Given the description of an element on the screen output the (x, y) to click on. 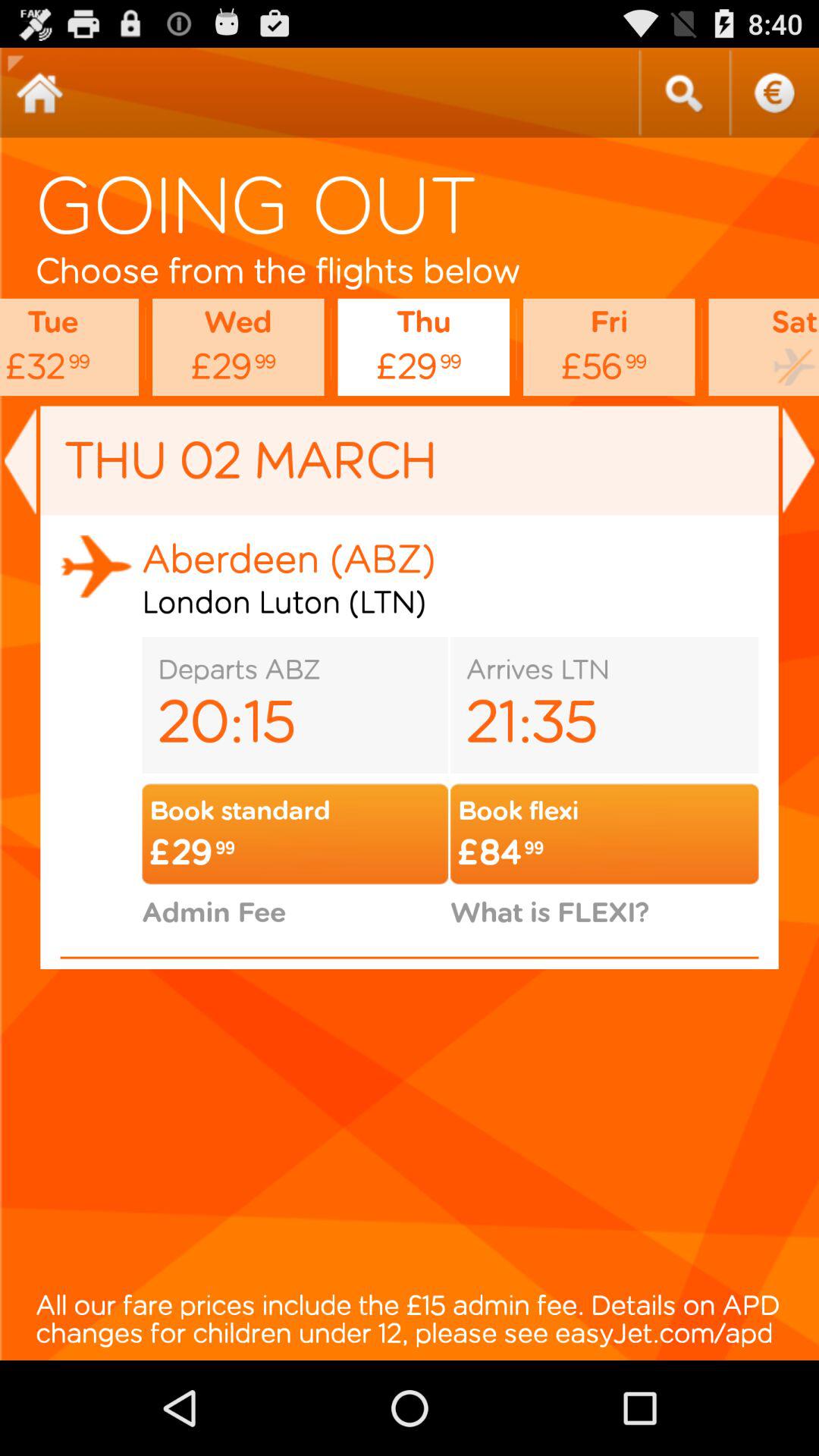
return to start screen (39, 92)
